Given the description of an element on the screen output the (x, y) to click on. 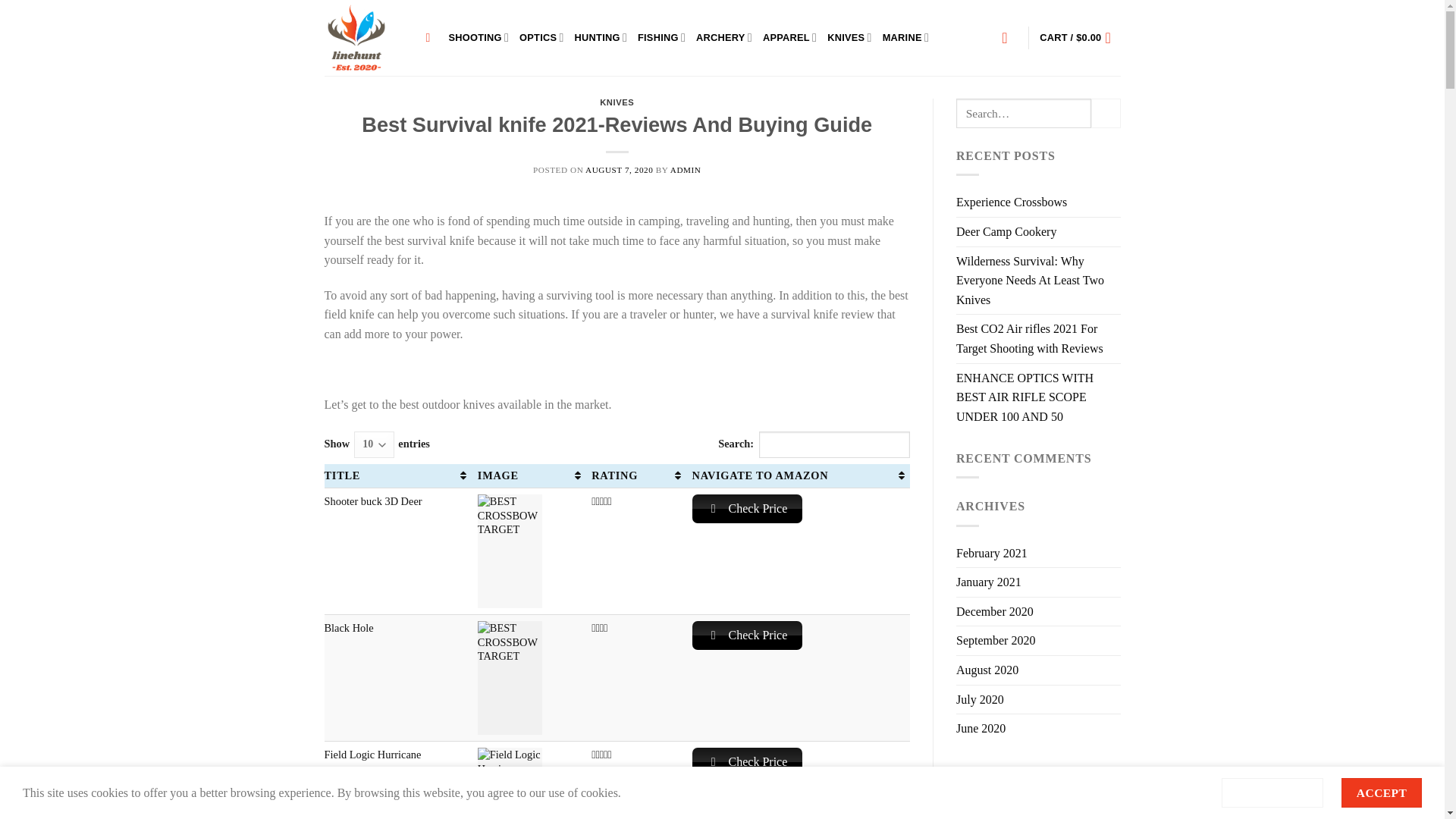
FISHING (661, 37)
LineHunt - Online hunting and fishing gear specialist store. (363, 38)
HUNTING (601, 37)
SHOOTING (478, 37)
OPTICS (541, 37)
Cart (1079, 37)
ARCHERY (723, 37)
